Given the description of an element on the screen output the (x, y) to click on. 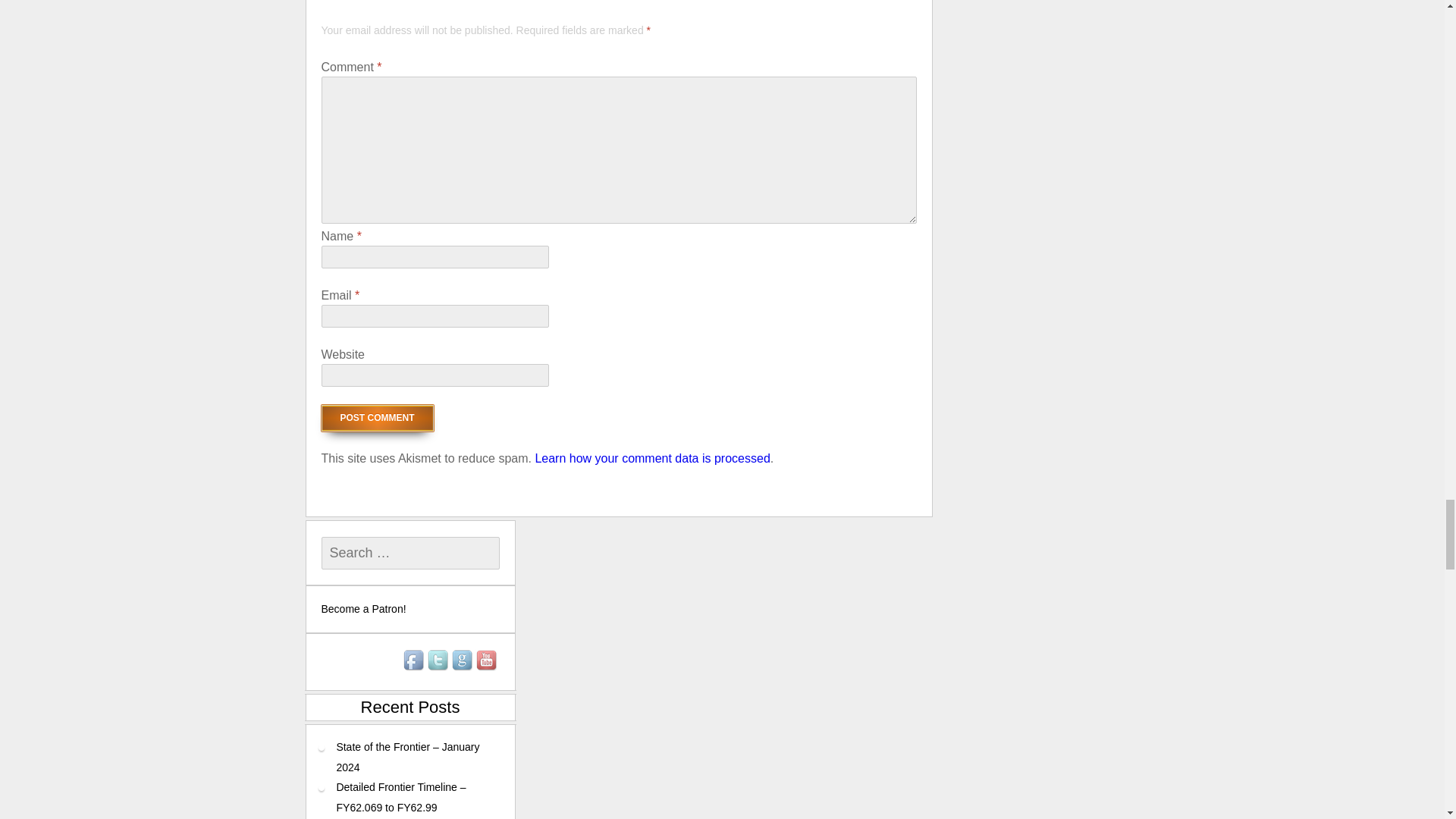
google (461, 661)
twitter (437, 661)
Post Comment (377, 417)
youtube (486, 661)
facebook (413, 661)
